Given the description of an element on the screen output the (x, y) to click on. 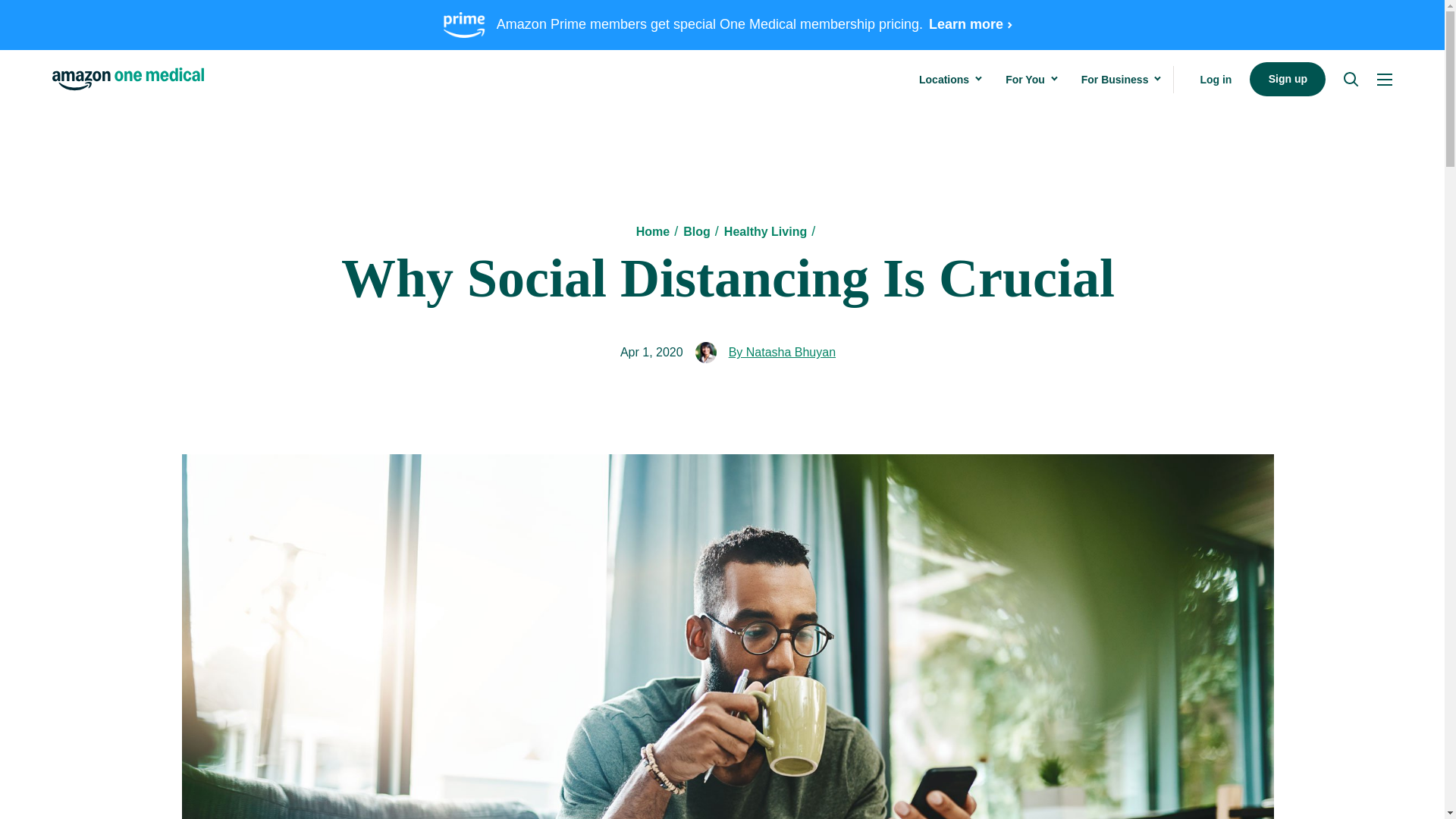
Log in (1215, 79)
Sign up (1286, 79)
For You (1025, 79)
Locations (943, 79)
For Business (1114, 79)
